Given the description of an element on the screen output the (x, y) to click on. 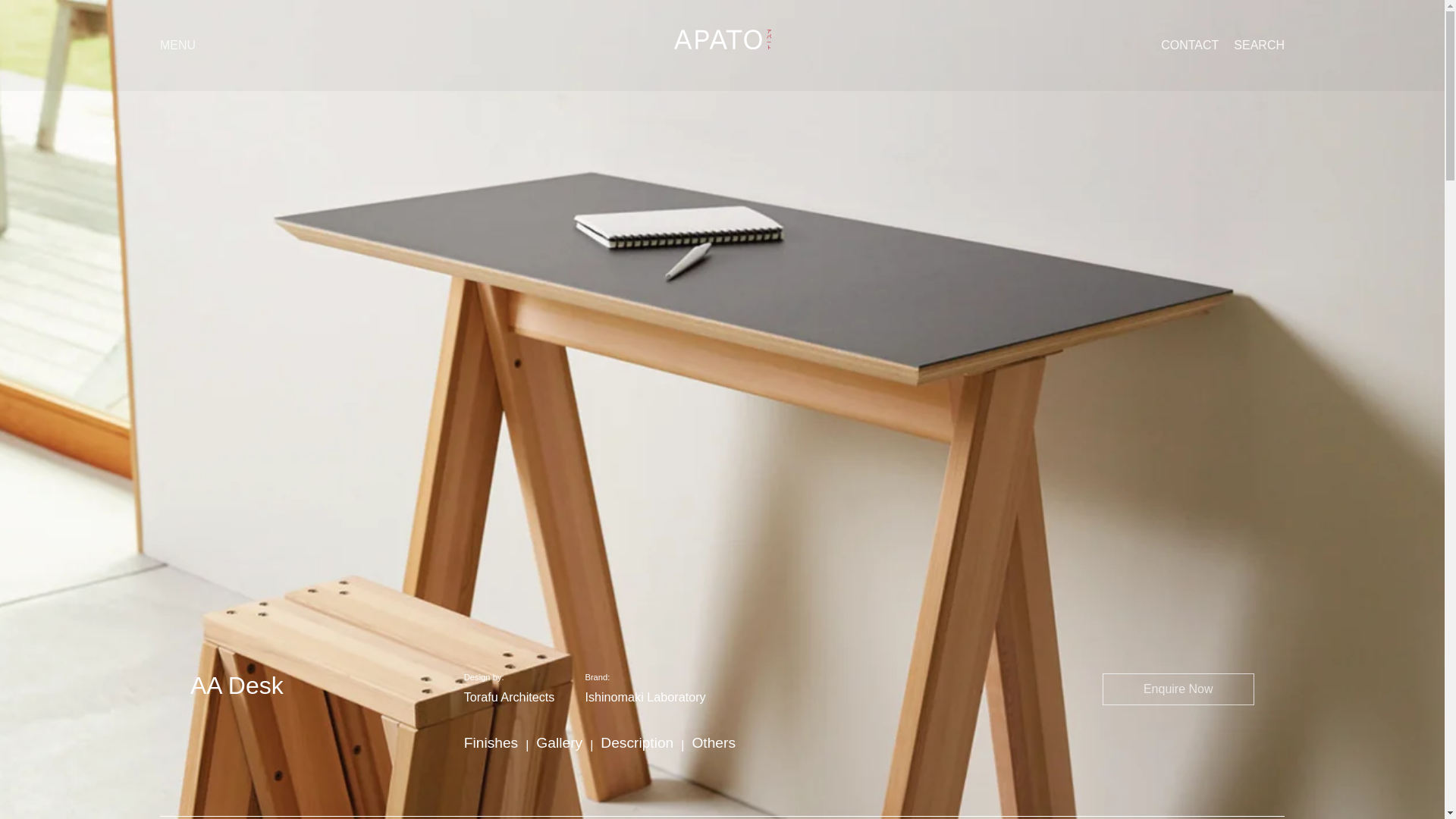
Subscribe (1209, 535)
SEARCH (1258, 45)
CONTACT (1189, 45)
MENU (177, 44)
